Given the description of an element on the screen output the (x, y) to click on. 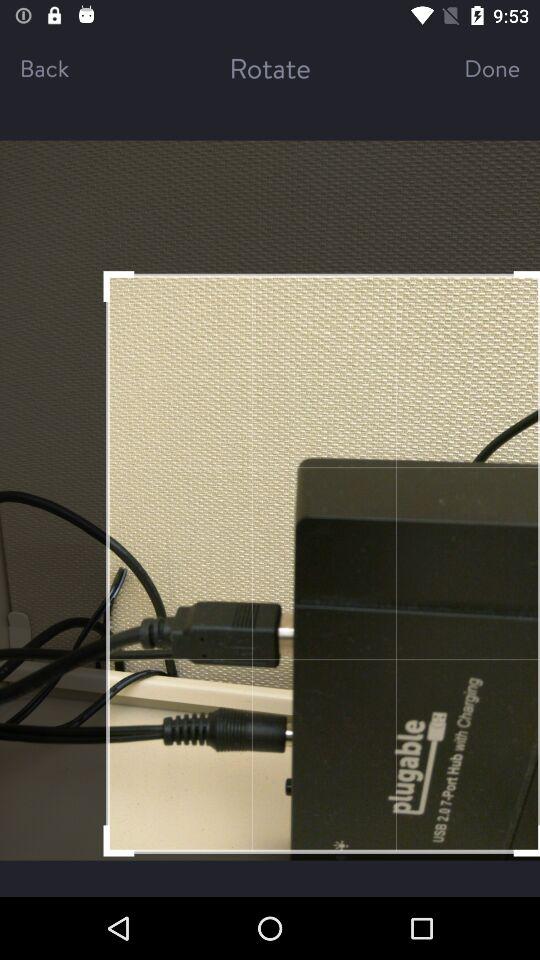
choose item at the top right corner (474, 67)
